Given the description of an element on the screen output the (x, y) to click on. 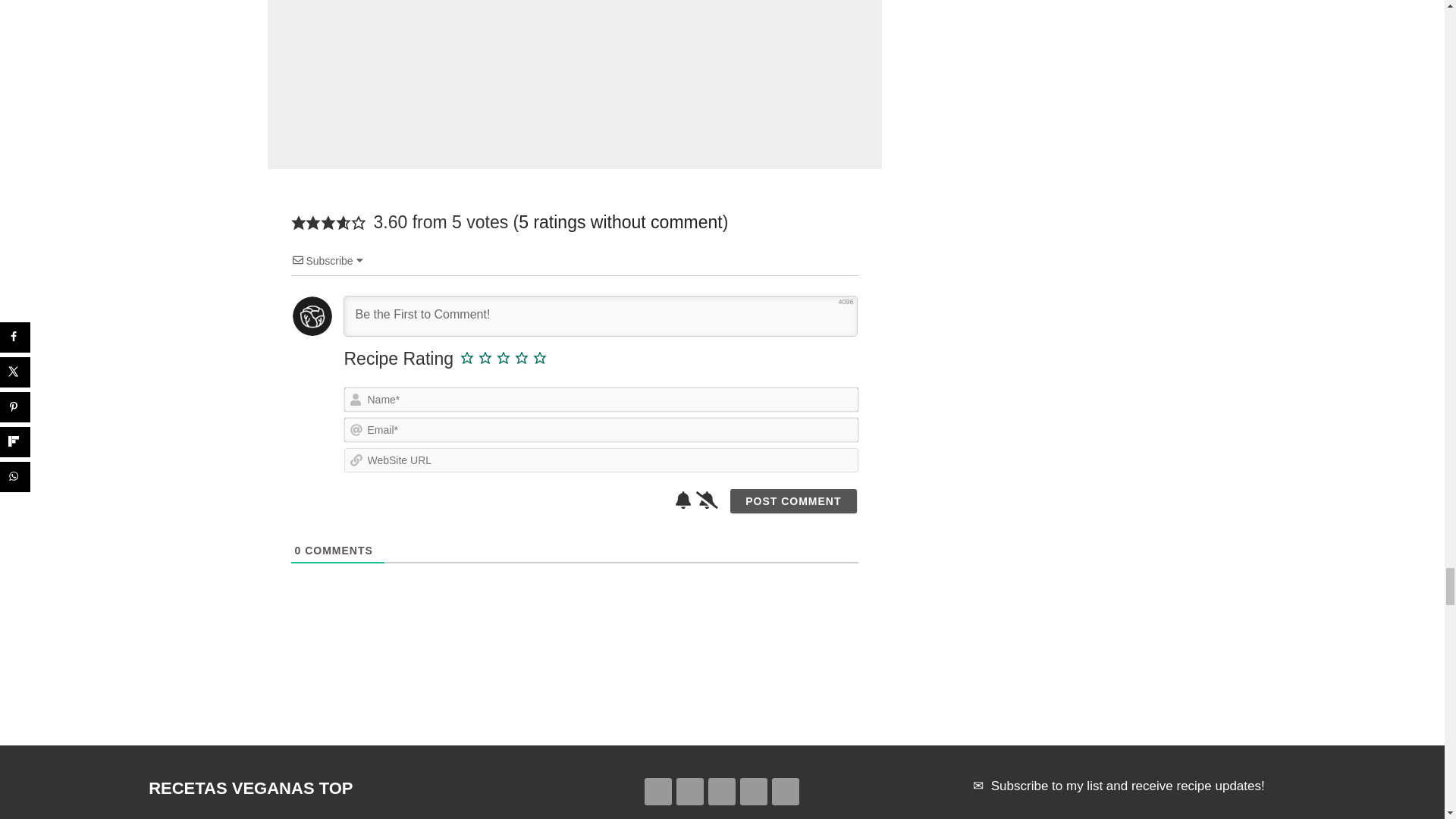
Post Comment (793, 500)
